Given the description of an element on the screen output the (x, y) to click on. 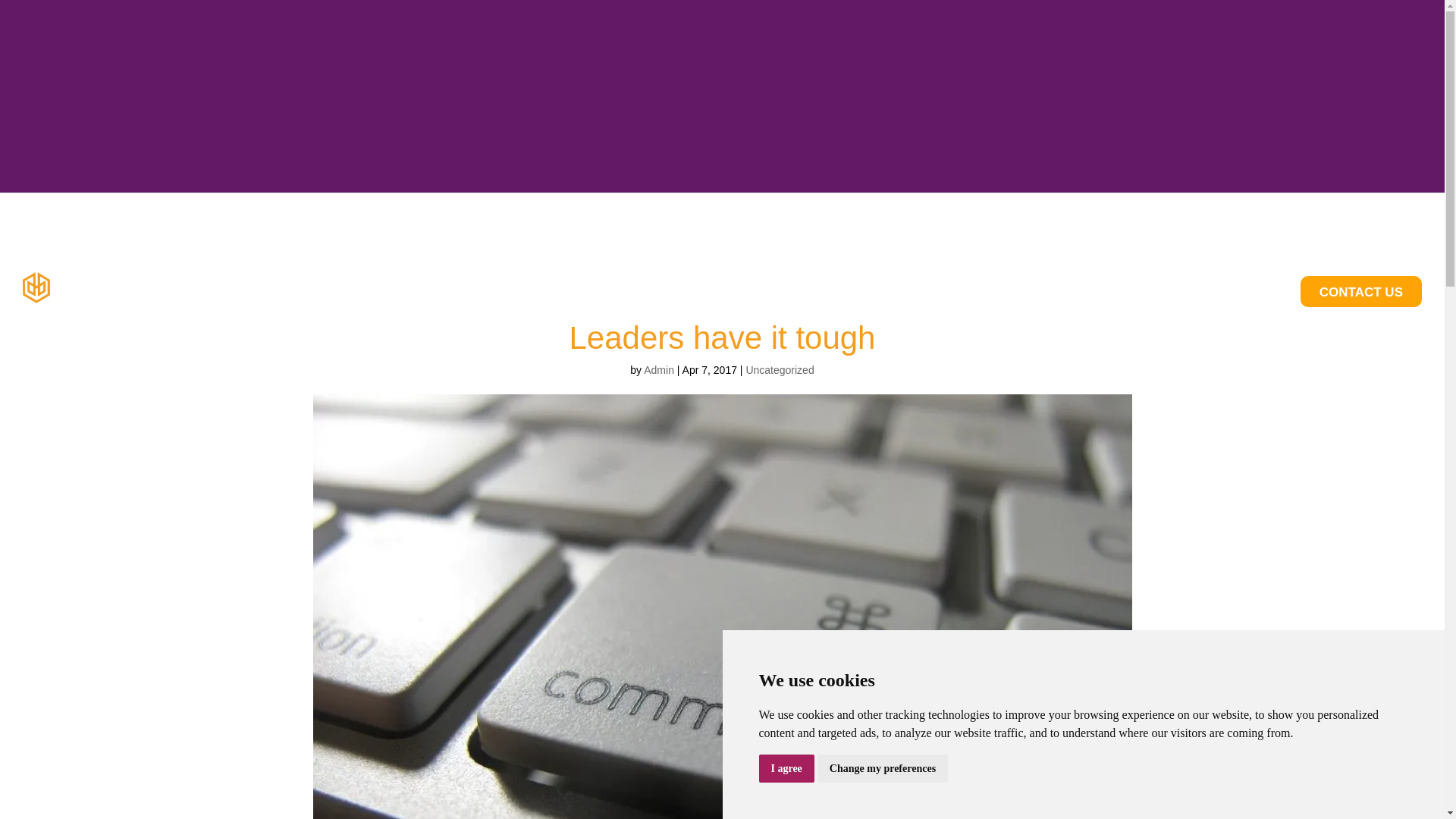
CONTACT US (1361, 291)
Find a Practitioner (1133, 291)
Change my preferences (881, 768)
About Us (1031, 291)
Testimonials (863, 291)
I agree (785, 768)
Resources (952, 291)
Posts by Admin (658, 369)
Uncategorized (779, 369)
Get Certified (1245, 291)
